Given the description of an element on the screen output the (x, y) to click on. 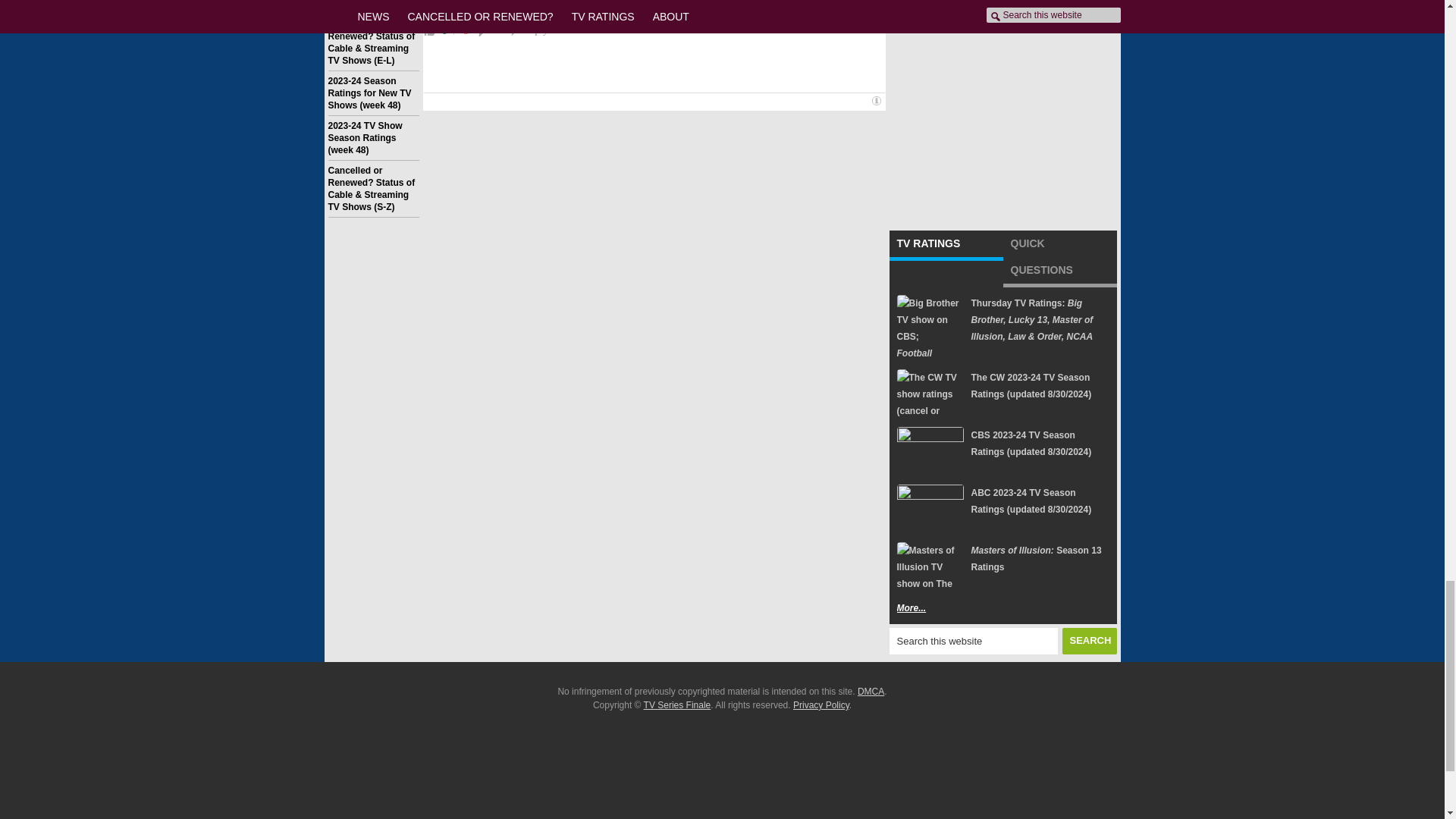
Search (1088, 641)
Search (1088, 641)
1 (443, 30)
